Given the description of an element on the screen output the (x, y) to click on. 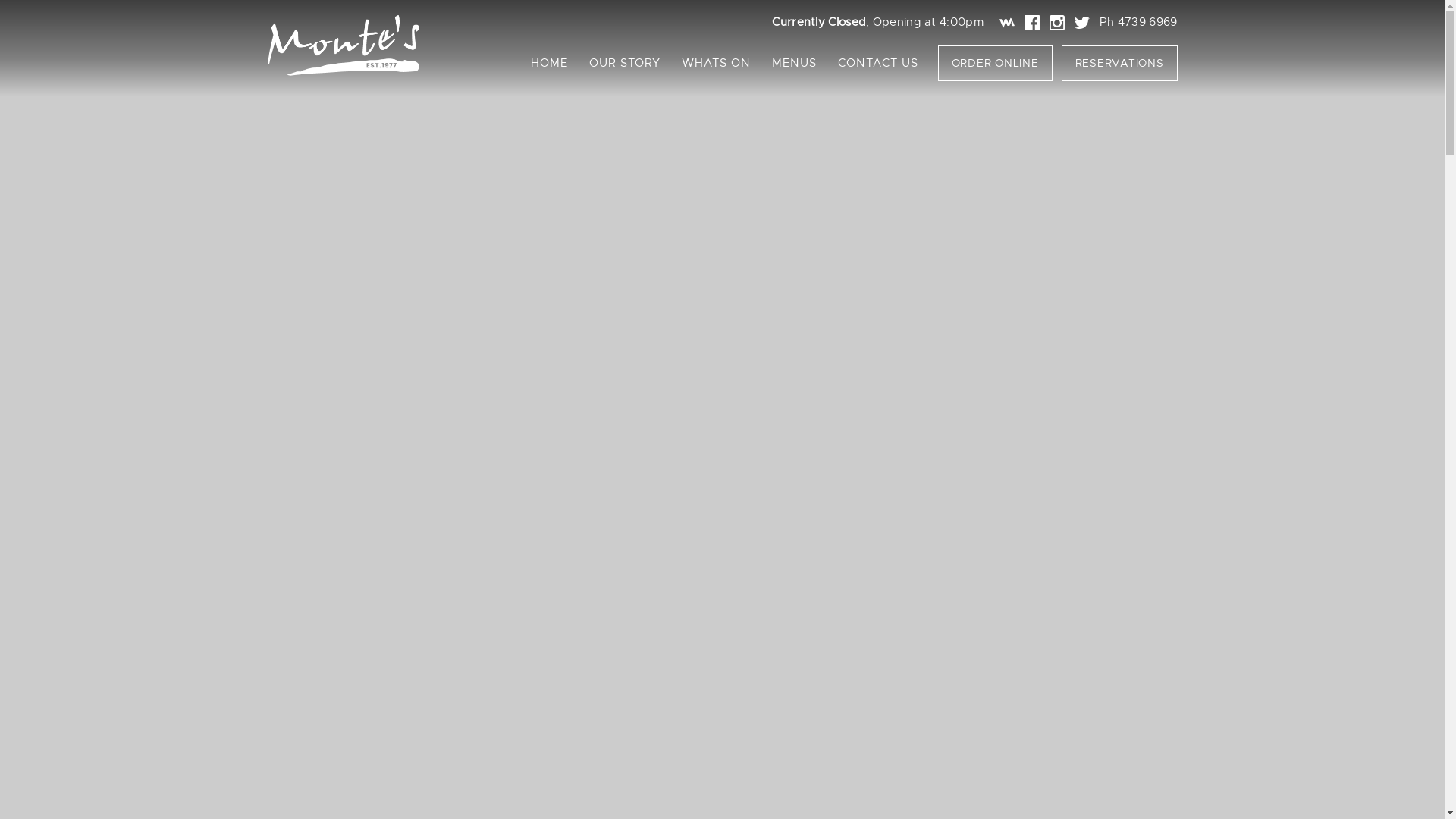
Ph 4739 6969 Element type: text (1138, 21)
ORDER ONLINE Element type: text (994, 63)
MENUS Element type: text (794, 62)
WHATS ON Element type: text (715, 62)
CONTACT US Element type: text (877, 62)
OUR STORY Element type: text (623, 62)
HOME Element type: text (549, 62)
Currently Closed, Opening at 4:00pm Element type: text (877, 21)
RESERVATIONS Element type: text (1119, 63)
